Given the description of an element on the screen output the (x, y) to click on. 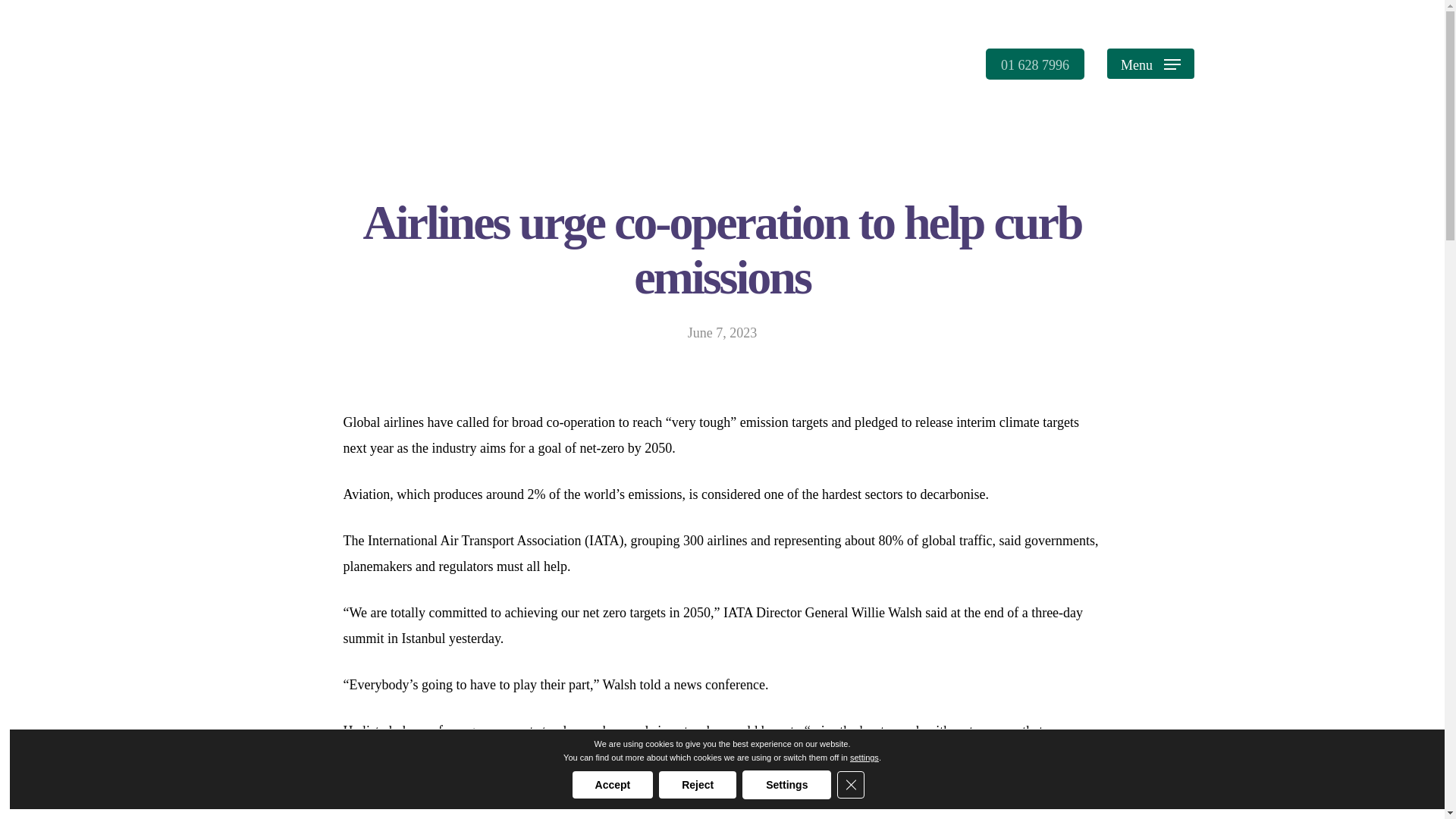
Menu (1149, 64)
01 628 7996 (1034, 63)
